Given the description of an element on the screen output the (x, y) to click on. 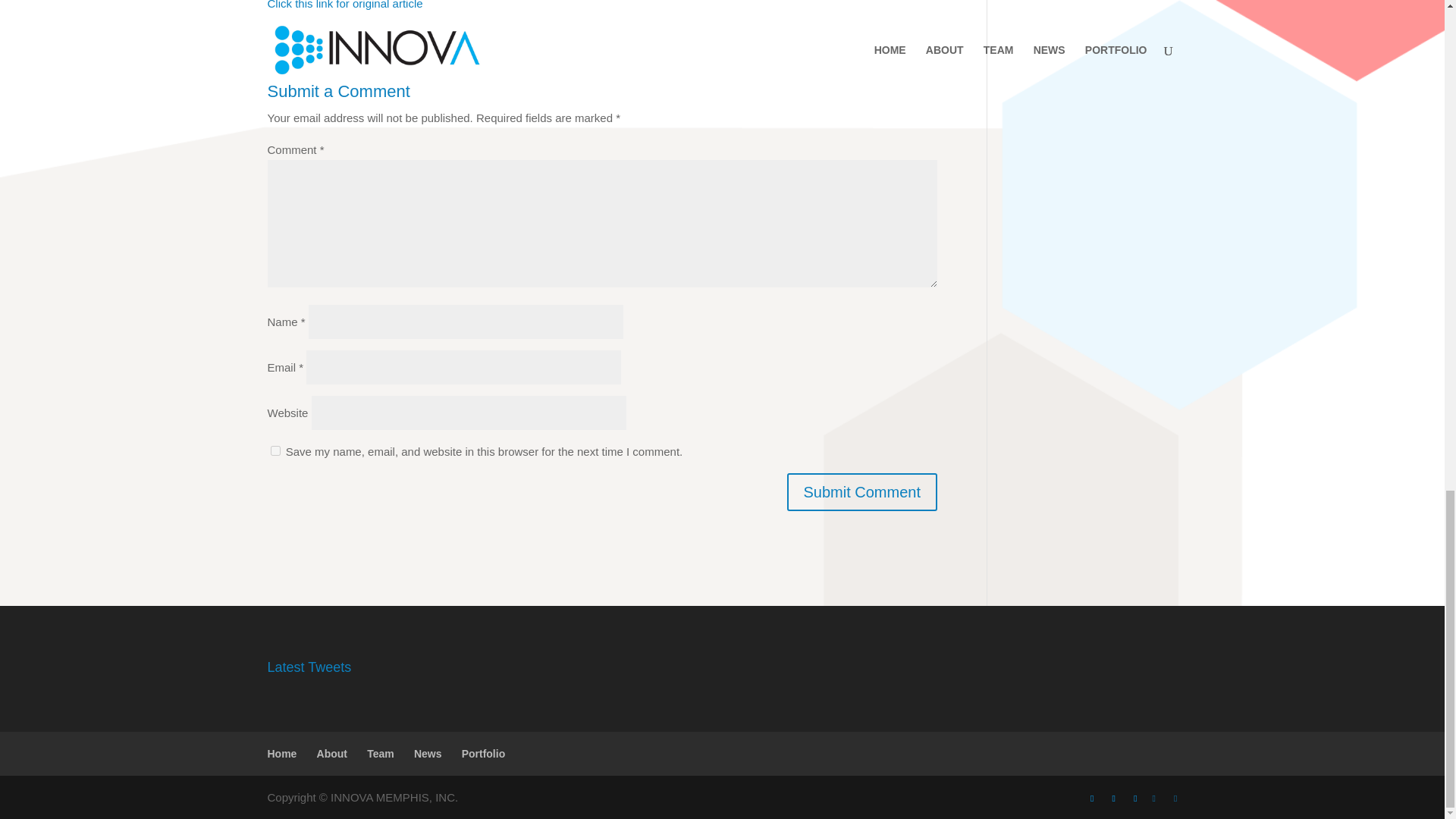
News (427, 753)
Home (281, 753)
Submit Comment (862, 492)
Portfolio (483, 753)
Team (380, 753)
About (332, 753)
Click this link for original article (344, 4)
yes (274, 450)
Submit Comment (862, 492)
